Given the description of an element on the screen output the (x, y) to click on. 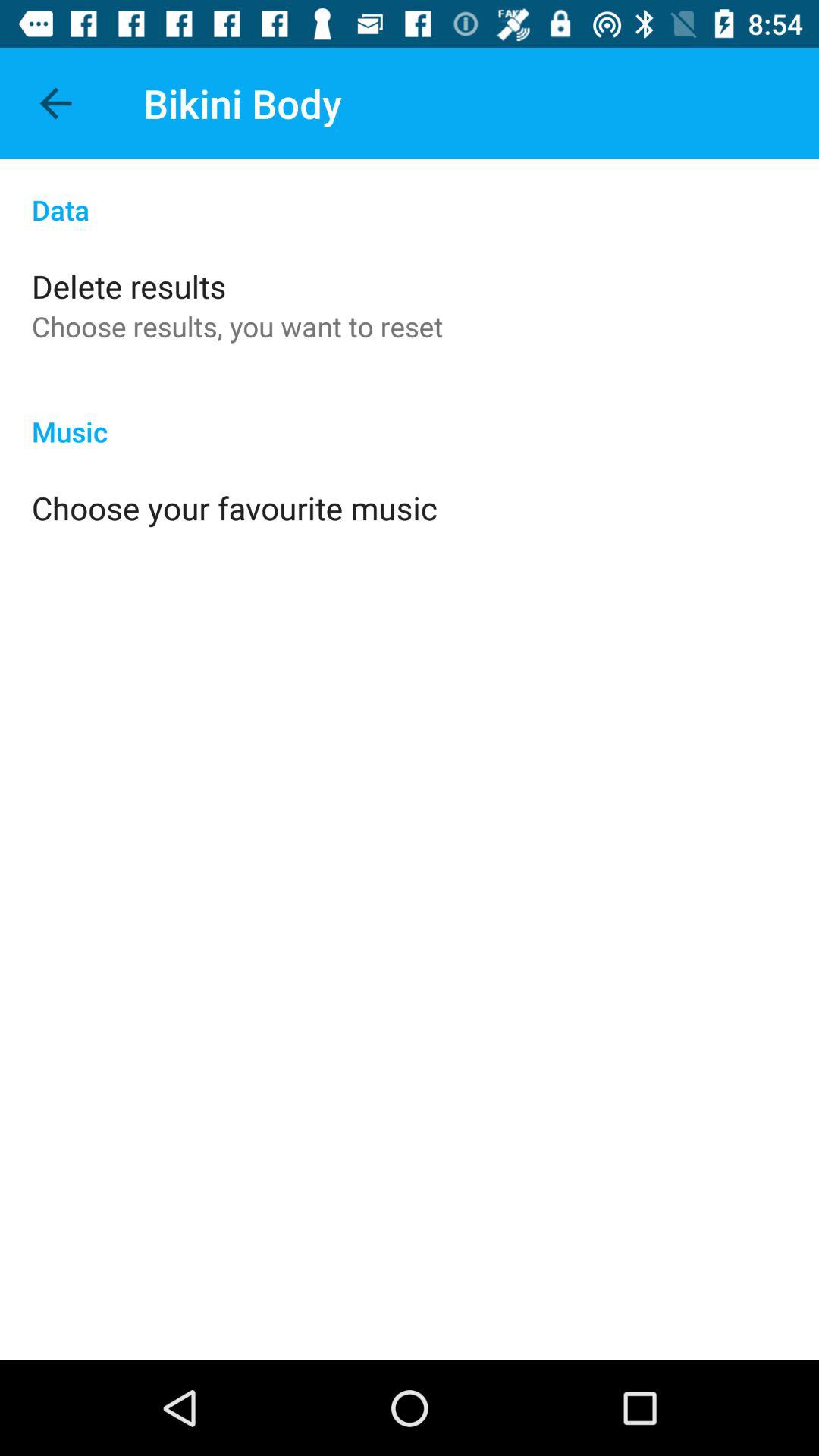
turn on the delete results app (128, 285)
